Given the description of an element on the screen output the (x, y) to click on. 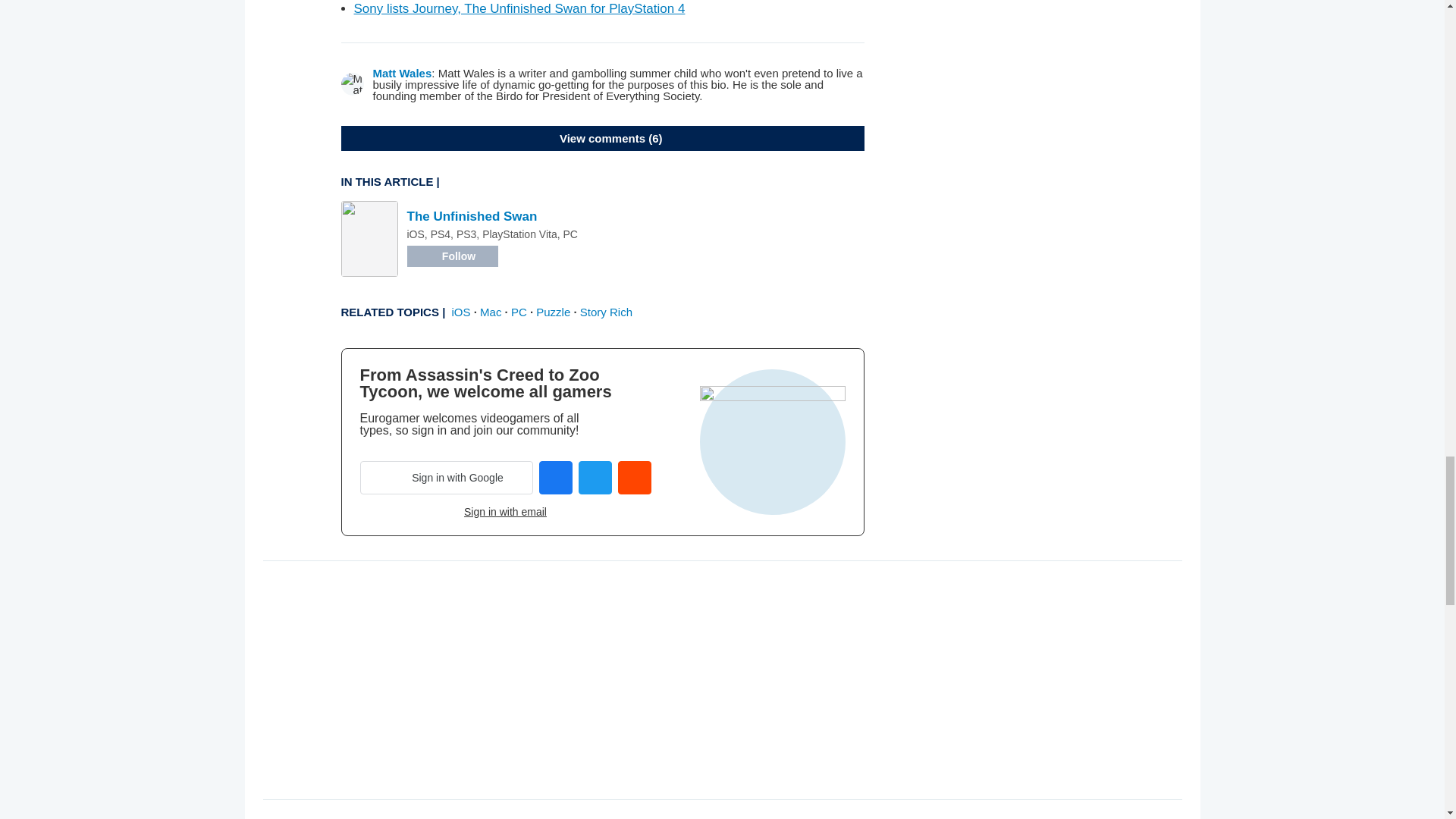
Sony lists Journey, The Unfinished Swan for PlayStation 4 (518, 8)
Matt Wales (402, 72)
